Given the description of an element on the screen output the (x, y) to click on. 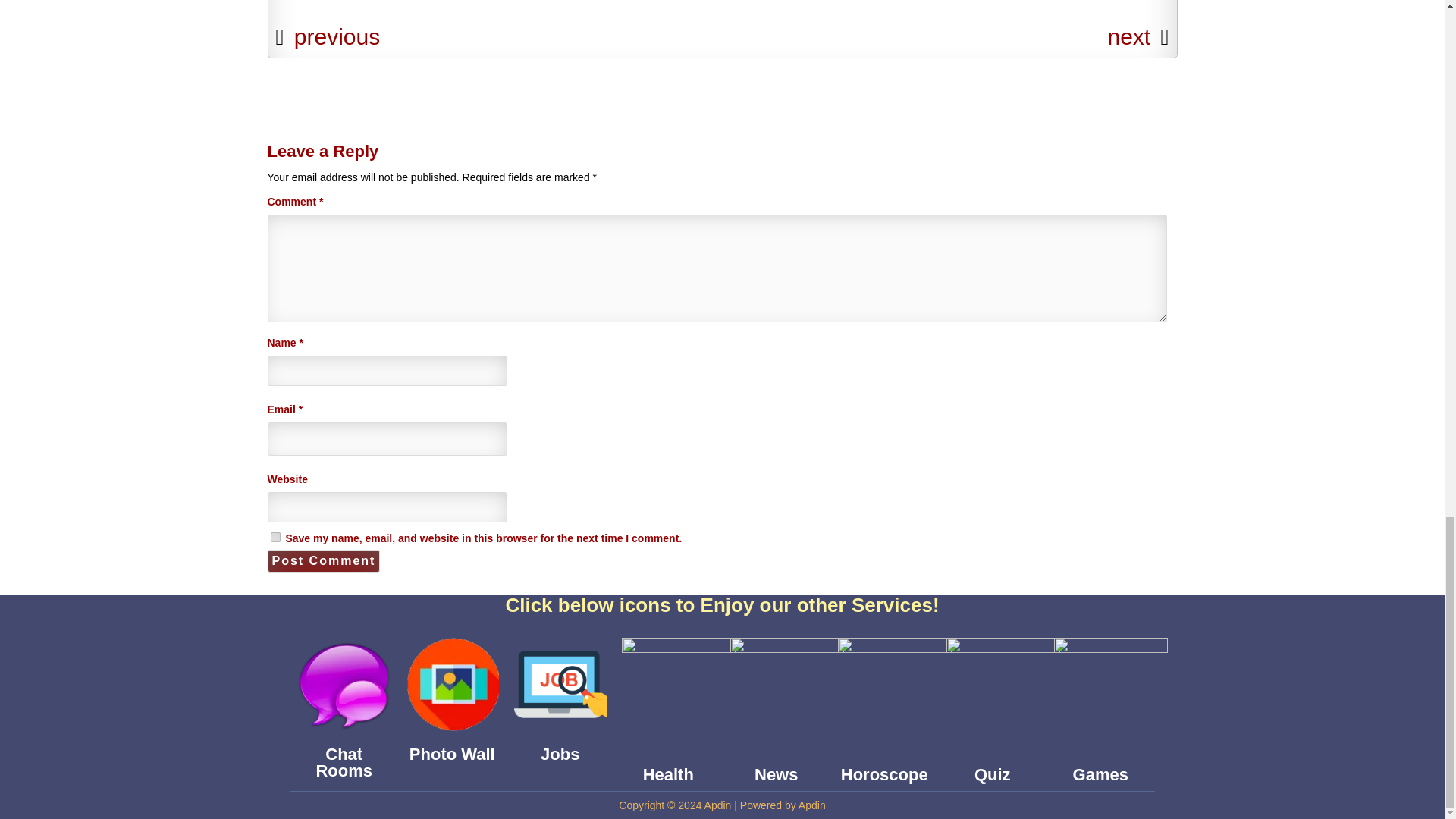
next (1131, 36)
Post Comment (323, 560)
yes (274, 537)
previous (336, 36)
